Given the description of an element on the screen output the (x, y) to click on. 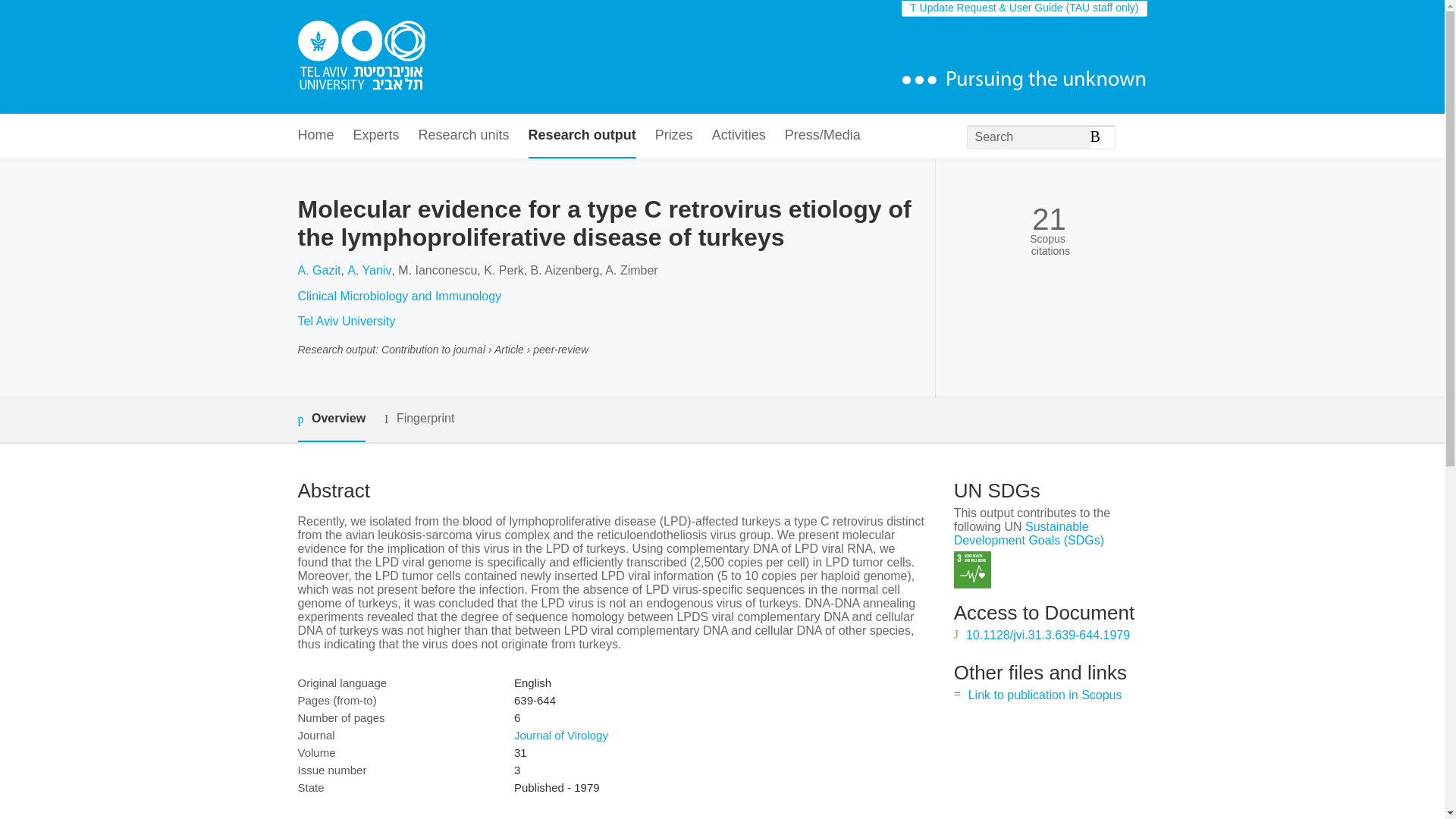
A. Gazit (318, 269)
SDG 3 - Good Health and Well-being (972, 569)
Research units (464, 135)
Activities (738, 135)
Tel Aviv University Home (361, 56)
Journal of Virology (560, 735)
A. Yaniv (369, 269)
Experts (375, 135)
Clinical Microbiology and Immunology (398, 295)
